Given the description of an element on the screen output the (x, y) to click on. 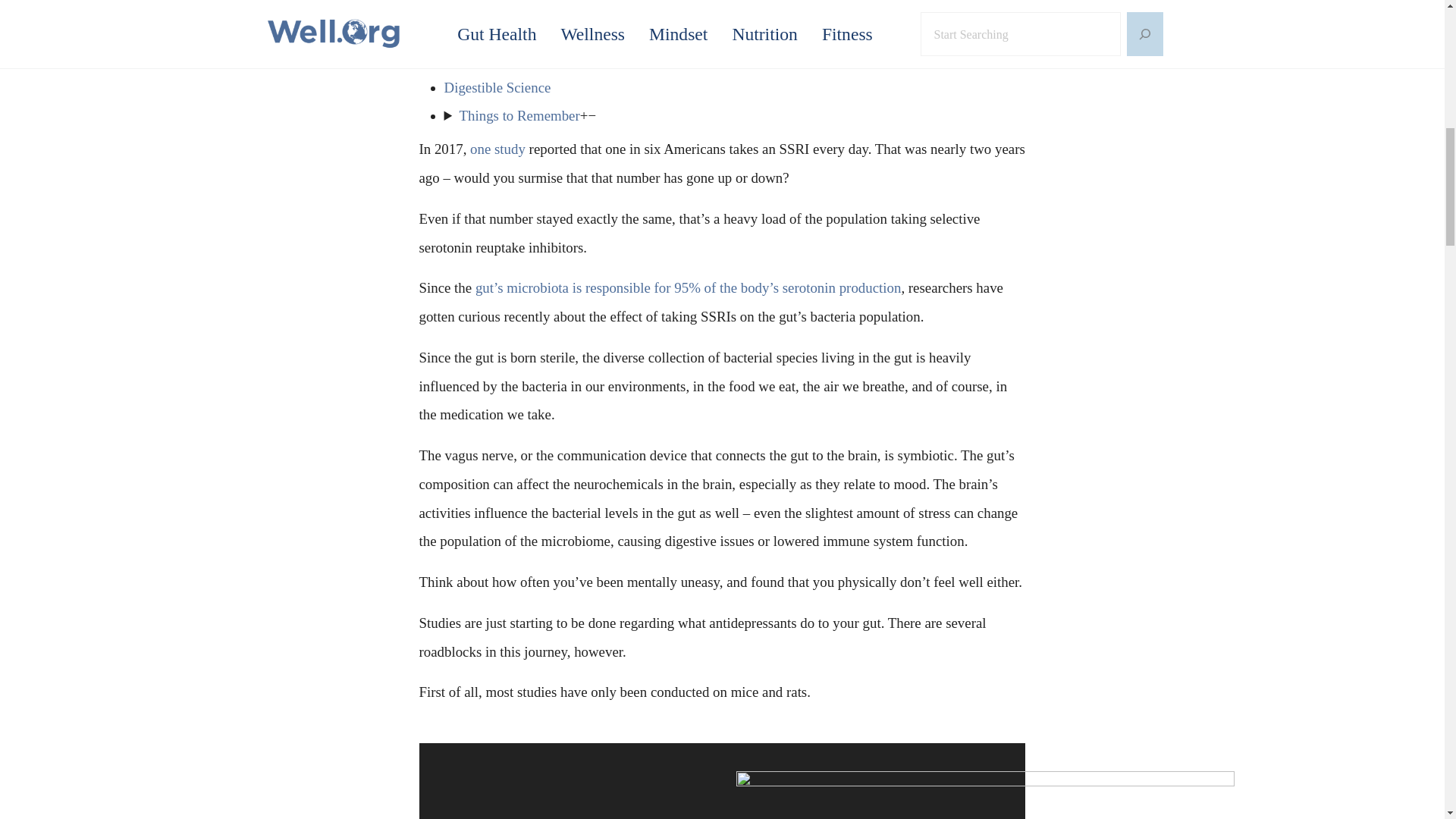
Digestible Science (497, 87)
one study (497, 148)
What is Known Now (505, 59)
What is Known Now (505, 59)
Things to Remember (519, 115)
Digestible Science (497, 87)
Things to Remember (519, 115)
